Given the description of an element on the screen output the (x, y) to click on. 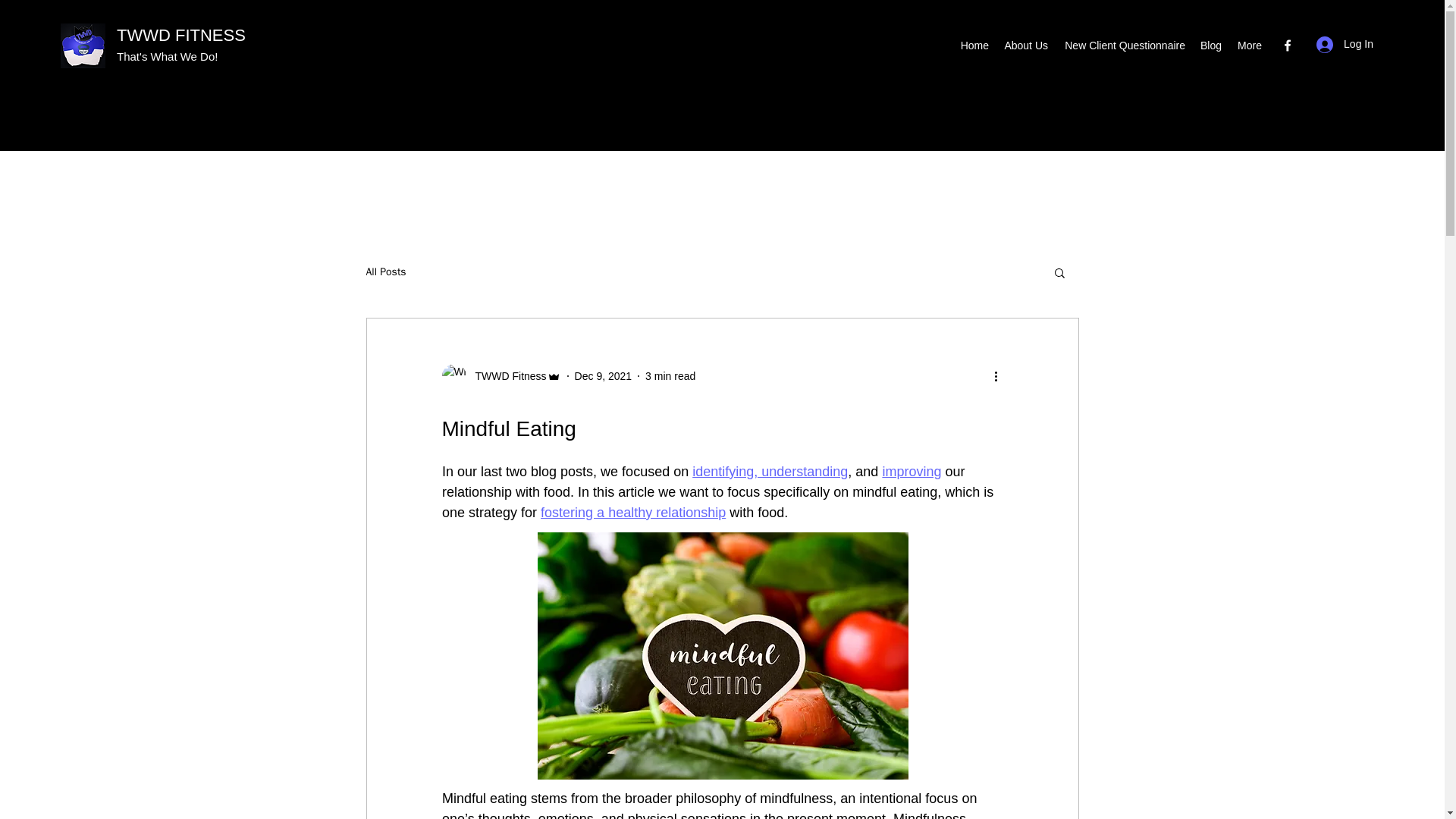
Home (973, 45)
Log In (1345, 44)
fostering a healthy relationship (632, 512)
Blog (1210, 45)
TWWD Fitness (505, 376)
New Client Questionnaire (1123, 45)
All Posts (385, 272)
identifying, understanding (770, 471)
3 min read (670, 376)
About Us (1025, 45)
Dec 9, 2021 (603, 376)
TWWD FITNESS (181, 35)
improving (911, 471)
TWWD Fitness (500, 375)
